Given the description of an element on the screen output the (x, y) to click on. 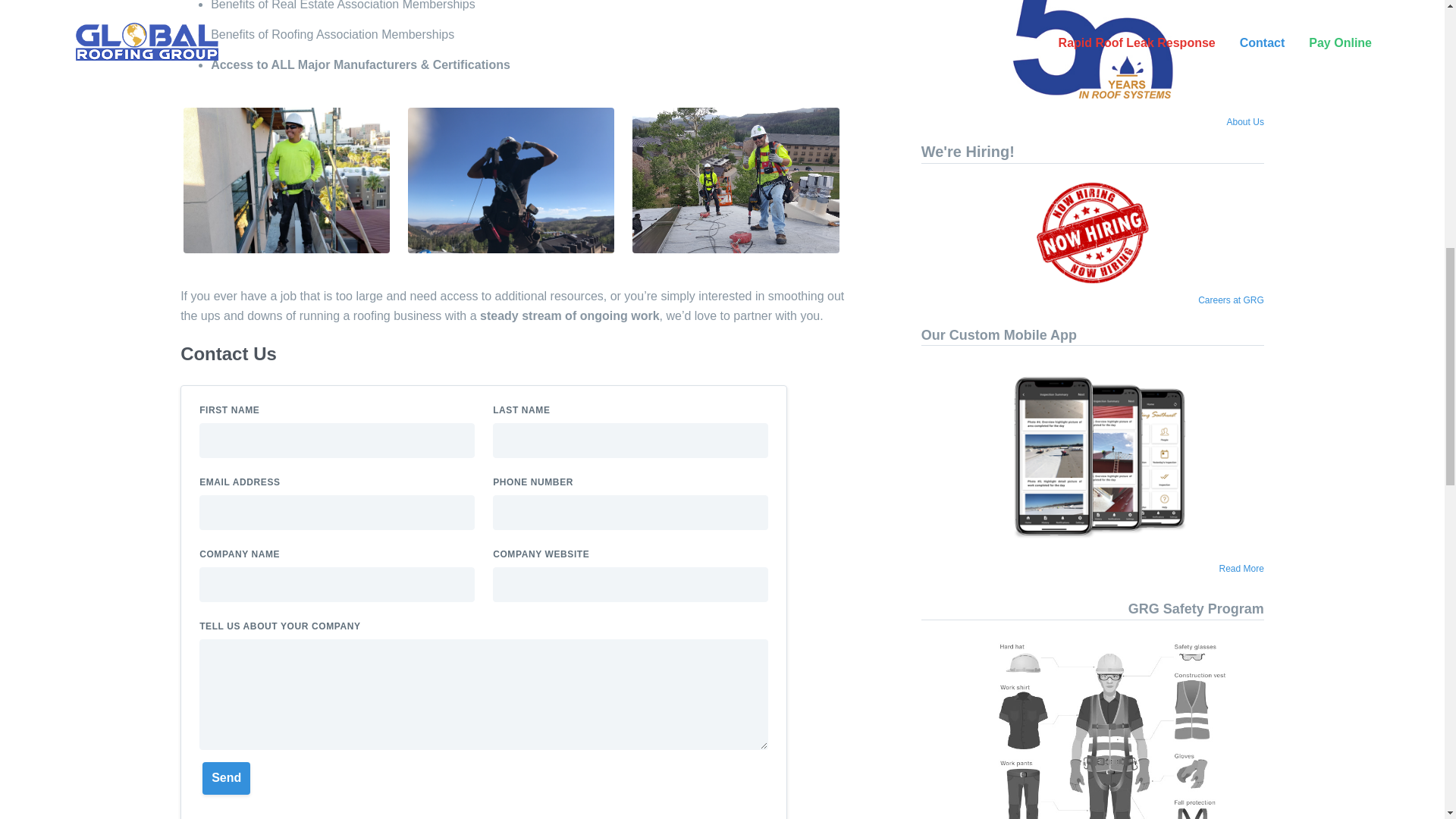
Read More (1241, 568)
Send (226, 777)
Careers at GRG (1230, 299)
About Us (1245, 122)
Send (226, 777)
